Given the description of an element on the screen output the (x, y) to click on. 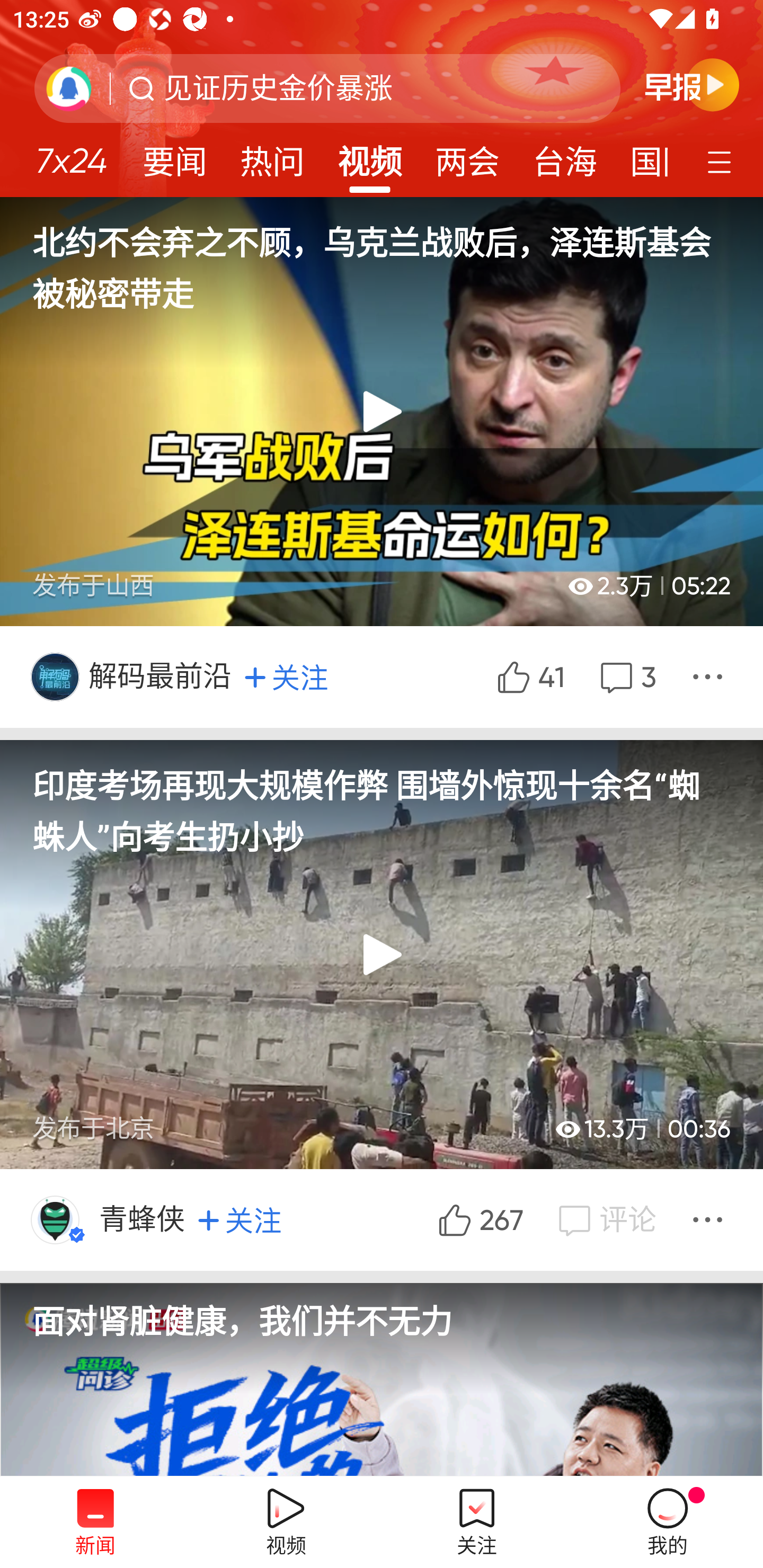
早晚报 (691, 84)
刷新 (68, 88)
见证历史金价暴涨 (278, 88)
7x24 (70, 154)
要闻 (174, 155)
热问 (272, 155)
视频 (369, 155)
两会 (466, 155)
台海 (564, 155)
 定制频道 (721, 160)
北约不会弃之不顾，乌克兰战败后，泽连斯基会被秘密带走 (381, 256)
41赞 (528, 676)
评论  3 (625, 676)
分享  (709, 676)
解码最前沿 (161, 676)
关注 (285, 677)
印度考场再现大规模作弊 围墙外惊现十余名“蜘蛛人”向考生扔小抄 (381, 799)
267赞 (478, 1219)
评论  评论 (604, 1219)
分享  (709, 1219)
青蜂侠 (143, 1219)
关注 (239, 1219)
面对肾脏健康，我们并不无力 (381, 1337)
